Given the description of an element on the screen output the (x, y) to click on. 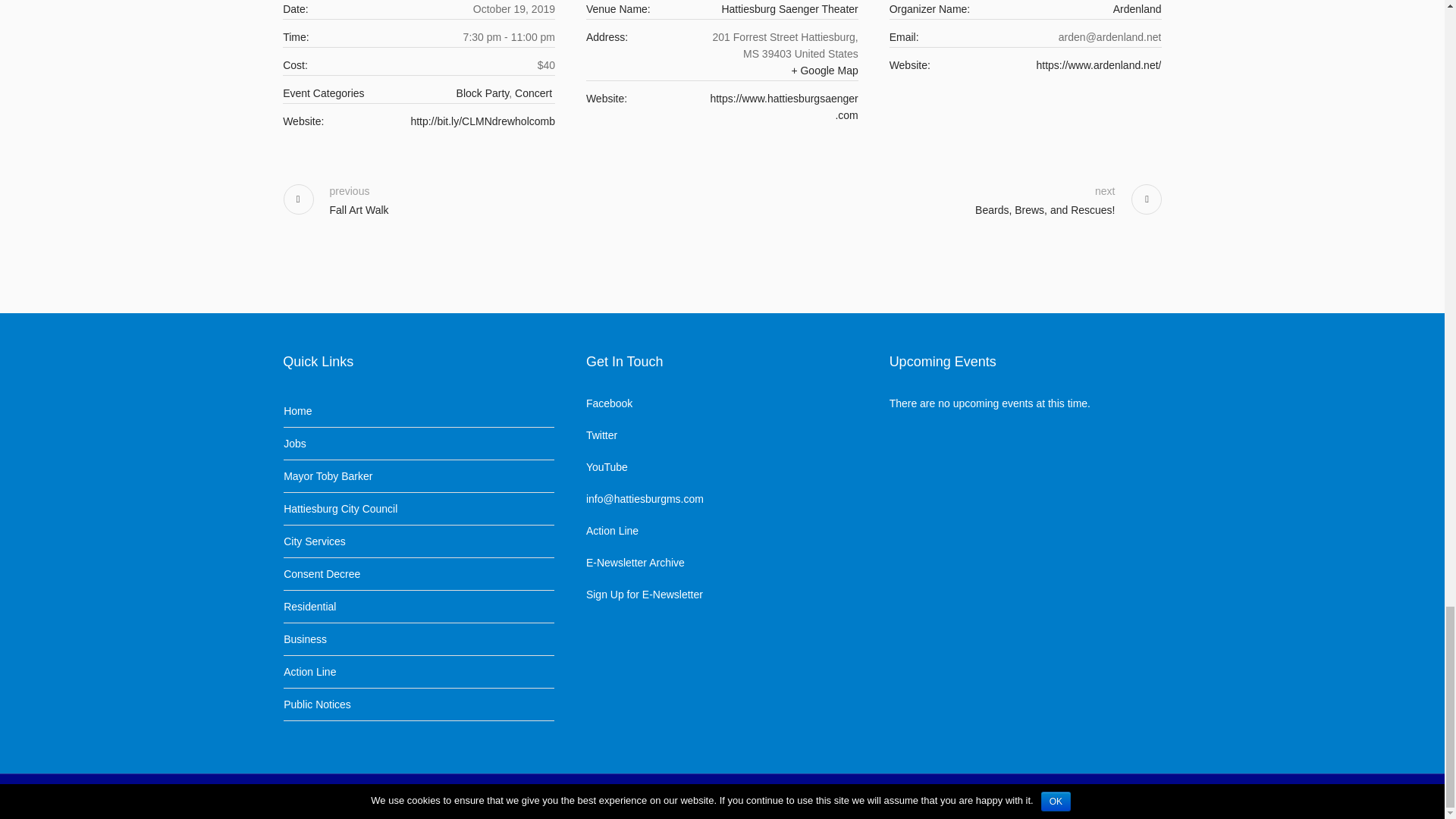
Mississippi (750, 53)
Ardenland (1137, 9)
2019-10-19 (508, 36)
2019-10-19 (513, 8)
Facebook (1115, 797)
Click to view a Google Map (823, 70)
